Given the description of an element on the screen output the (x, y) to click on. 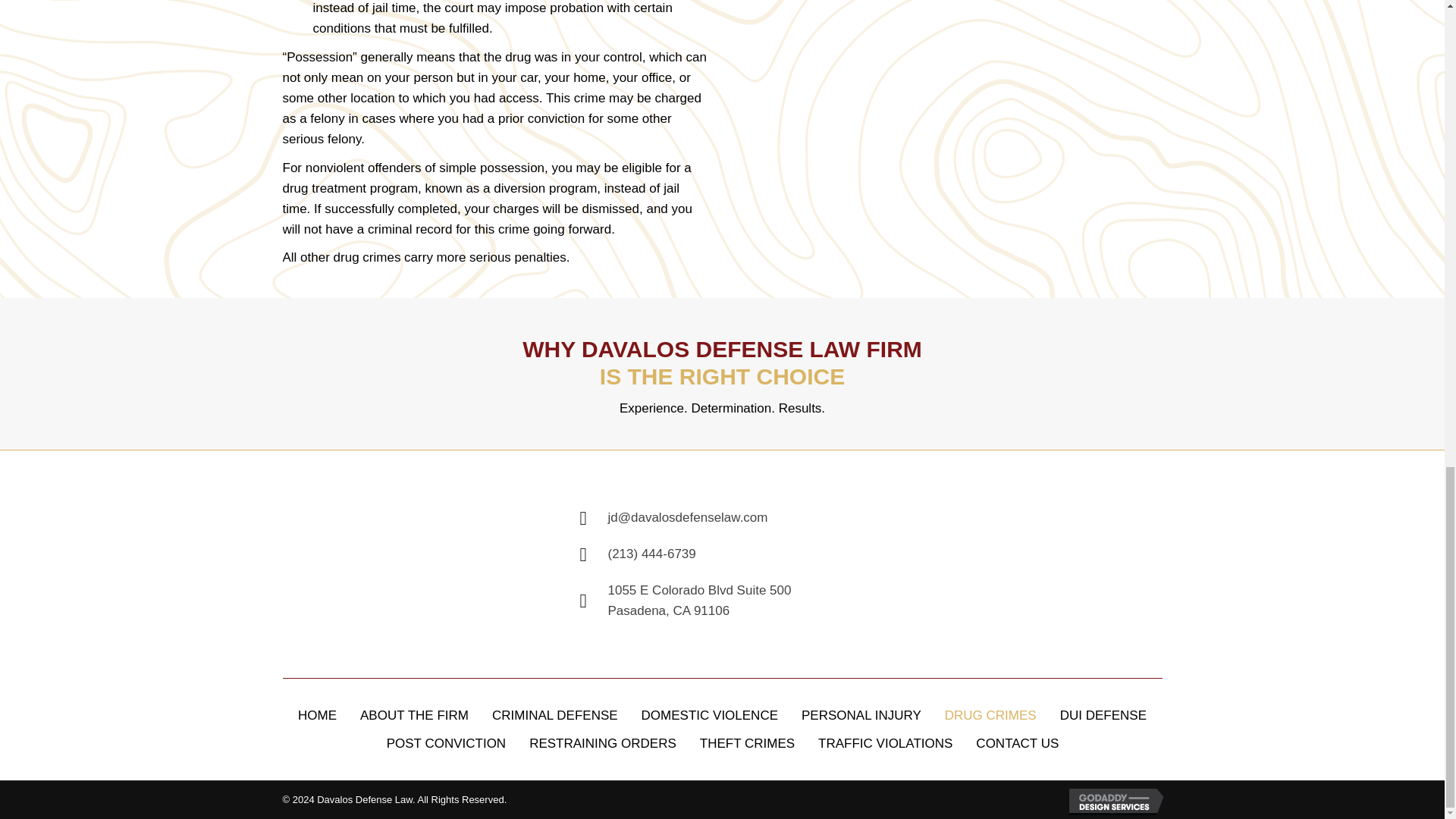
Logo.2110011047154-removebg-preview (376, 564)
